Given the description of an element on the screen output the (x, y) to click on. 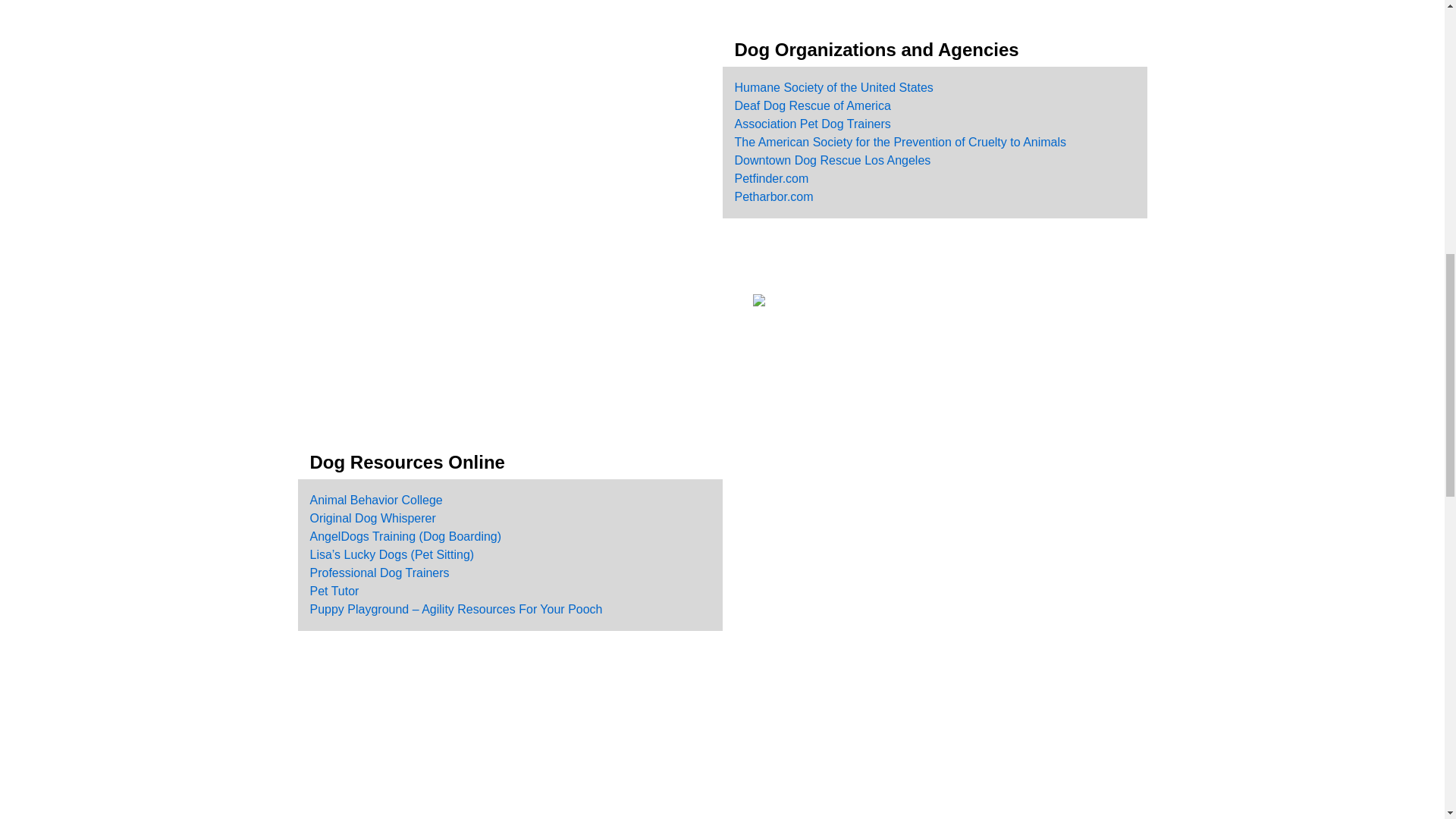
Association Pet Dog Trainers (811, 123)
Petharbor.com (772, 196)
Original Dog Whisperer (371, 517)
Pet Tutor (333, 590)
Deaf Dog Rescue of America (811, 105)
Professional Dog Trainers (378, 572)
Downtown Dog Rescue Los Angeles (831, 160)
Petfinder.com (770, 178)
Animal Behavior College (375, 499)
Humane Society of the United States (833, 87)
